Given the description of an element on the screen output the (x, y) to click on. 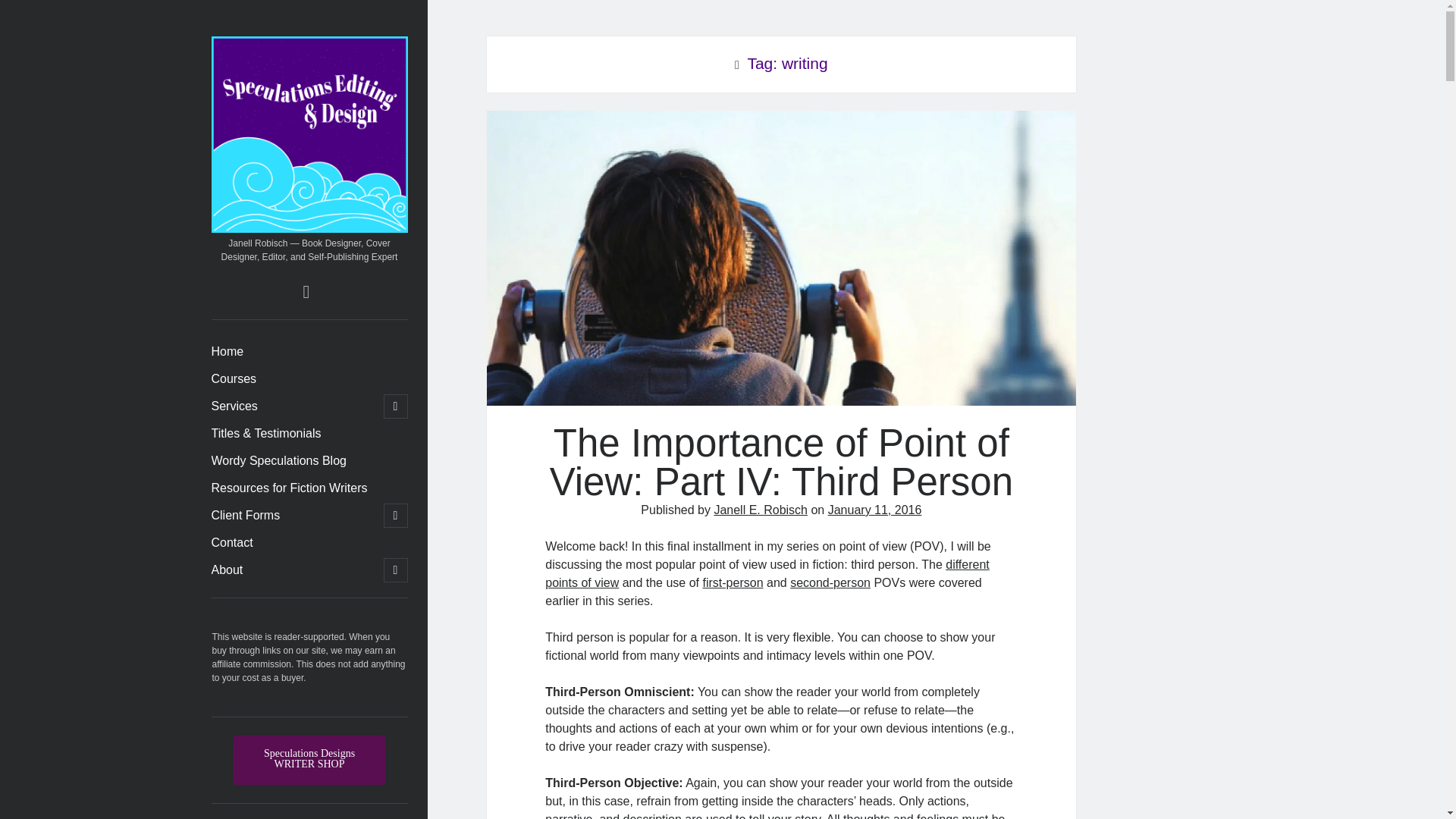
open child menu (395, 405)
Gifts and Decor for Writers and More (308, 759)
Speculations Editing (309, 225)
open child menu (395, 569)
Services (234, 406)
Home (227, 352)
Resources for Fiction Writers (288, 488)
About (227, 570)
Speculations Designs WRITER SHOP (308, 759)
Client Forms (245, 515)
open child menu (395, 515)
Contact (231, 542)
Courses (233, 379)
Wordy Speculations Blog (278, 461)
